Given the description of an element on the screen output the (x, y) to click on. 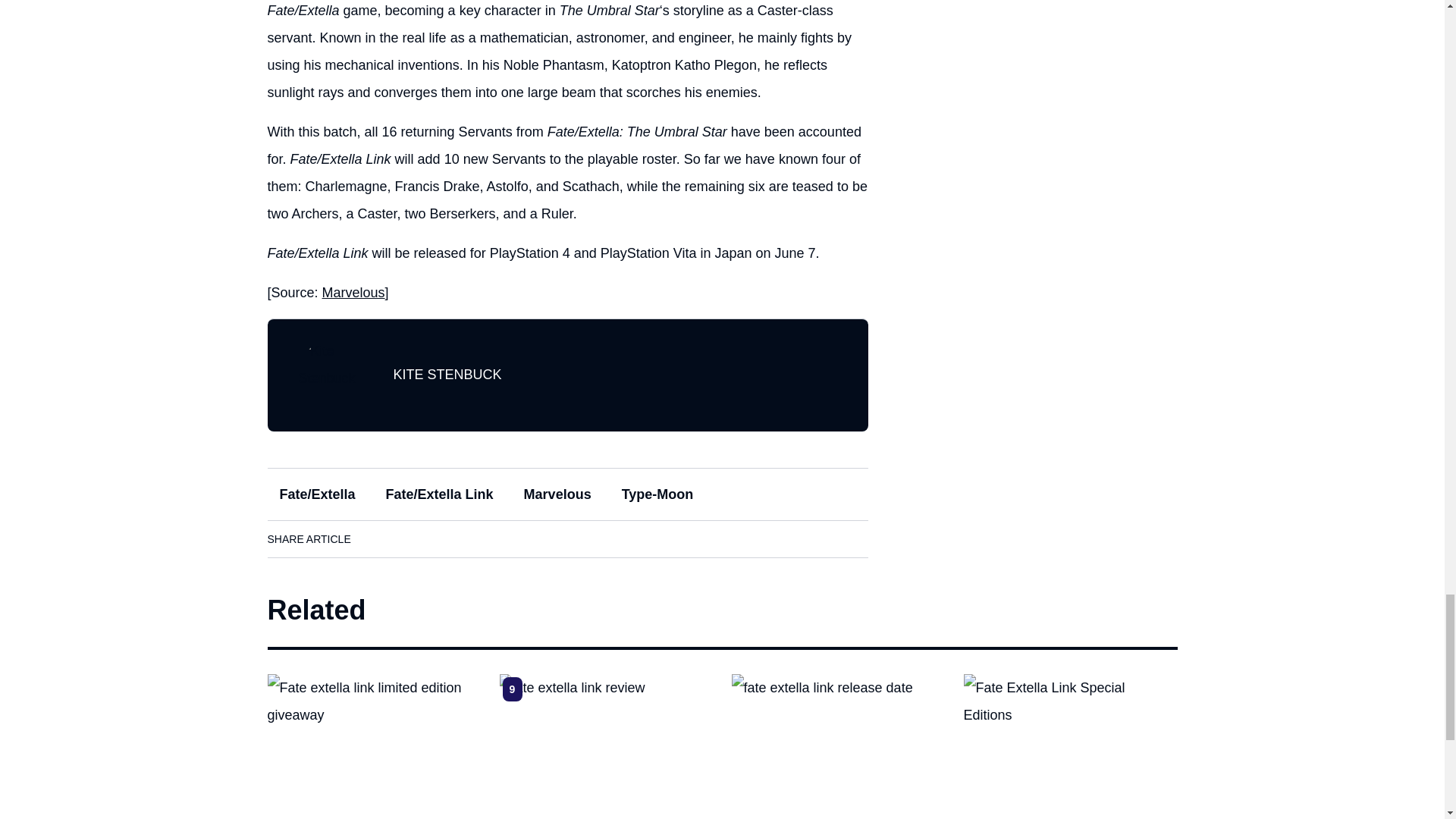
Type-Moon (658, 493)
KITE STENBUCK (446, 374)
Facebook (377, 539)
Twitter (463, 539)
LinkedIn (420, 539)
Pinterest (505, 539)
Marvelous (558, 493)
Marvelous (353, 292)
